Given the description of an element on the screen output the (x, y) to click on. 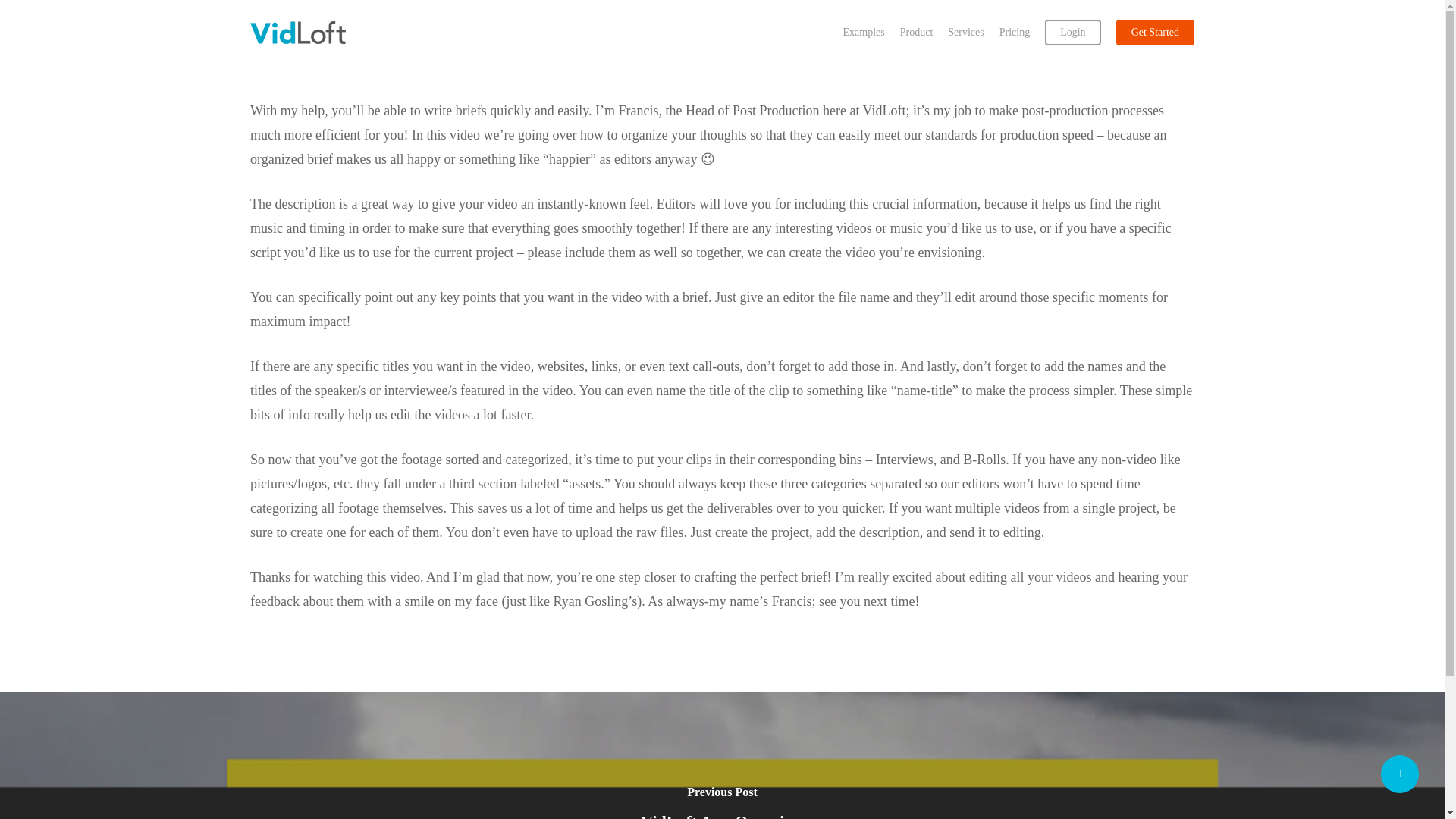
Pricing (1013, 32)
Examples (864, 32)
Product (916, 32)
Get Started (1154, 32)
Login (1072, 32)
Services (965, 32)
